Given the description of an element on the screen output the (x, y) to click on. 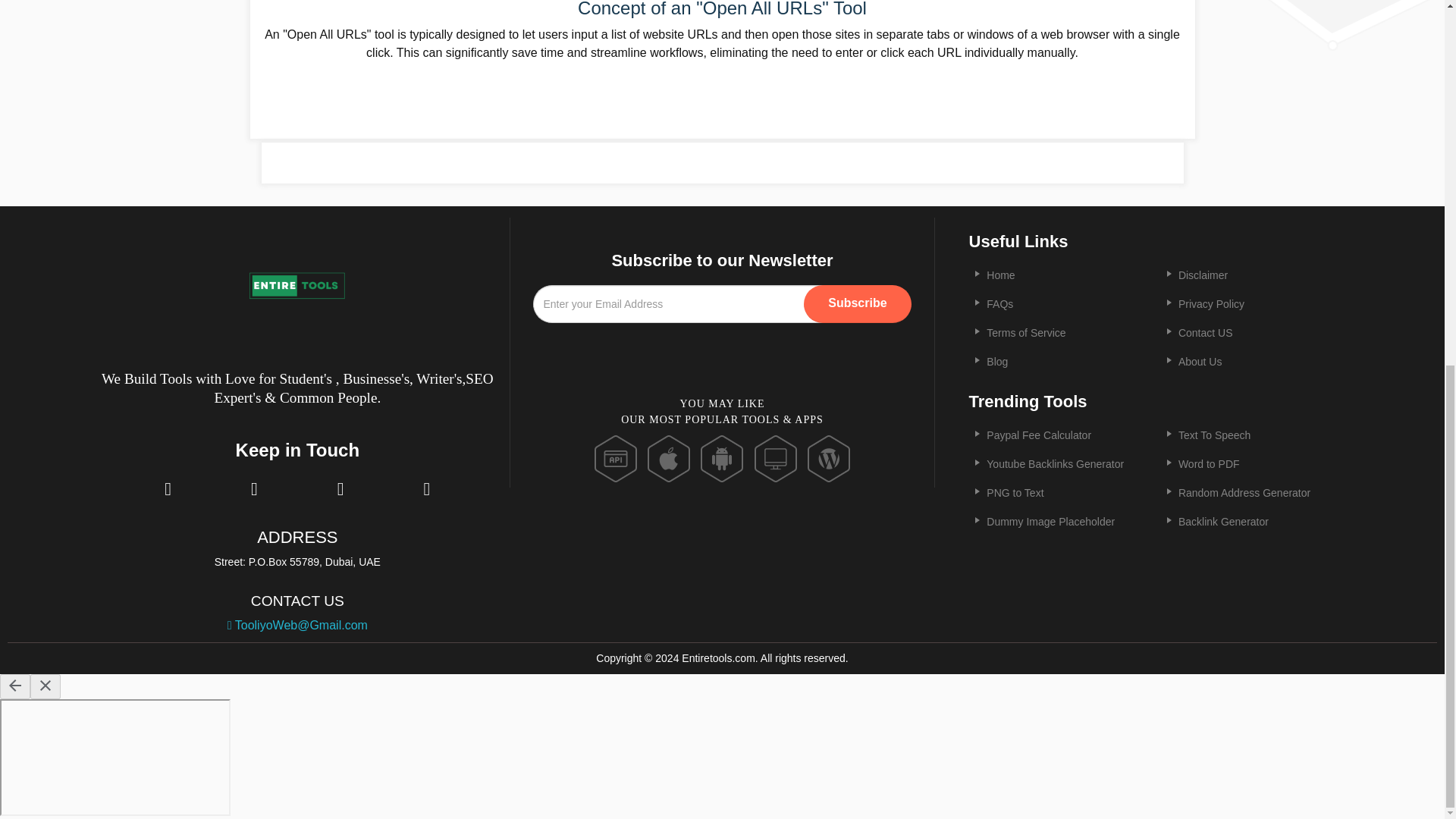
FAQs (1000, 304)
Subscribe (857, 303)
Home (1000, 275)
Disclaimer (1202, 275)
Privacy Policy (1210, 304)
